Given the description of an element on the screen output the (x, y) to click on. 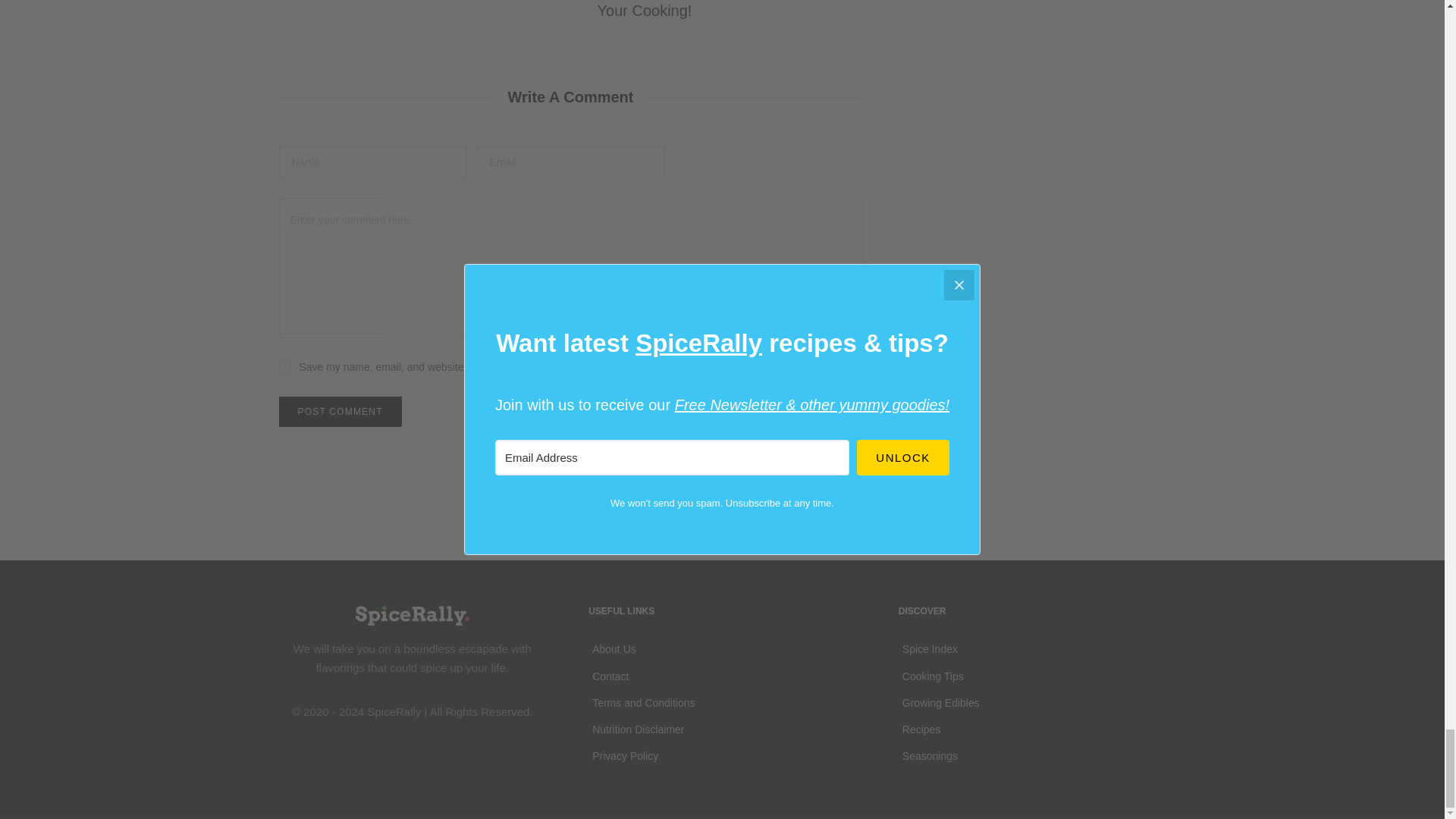
yes (285, 367)
Post Comment (340, 411)
Post Comment (340, 411)
